Given the description of an element on the screen output the (x, y) to click on. 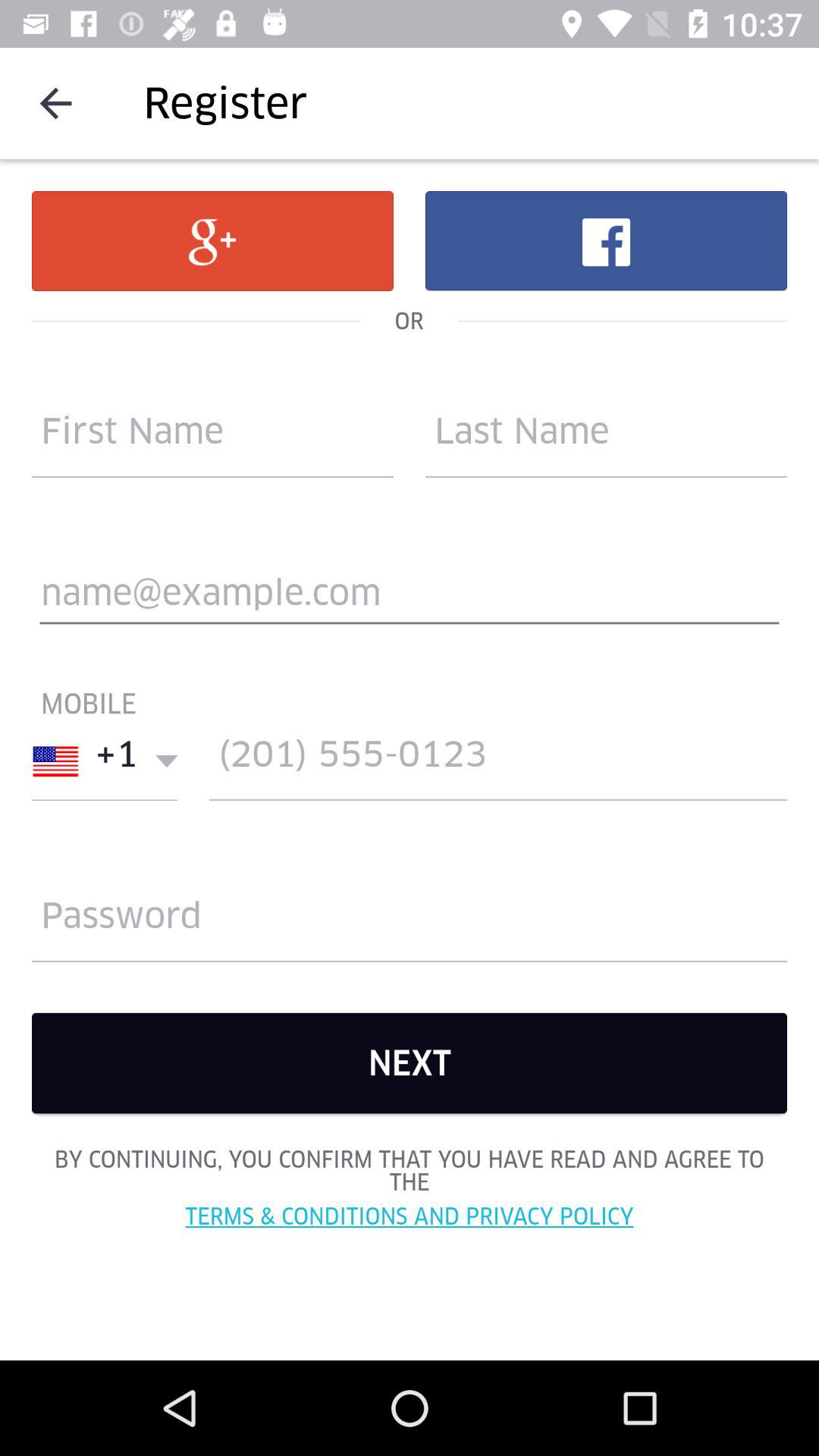
enter your last name (606, 438)
